Given the description of an element on the screen output the (x, y) to click on. 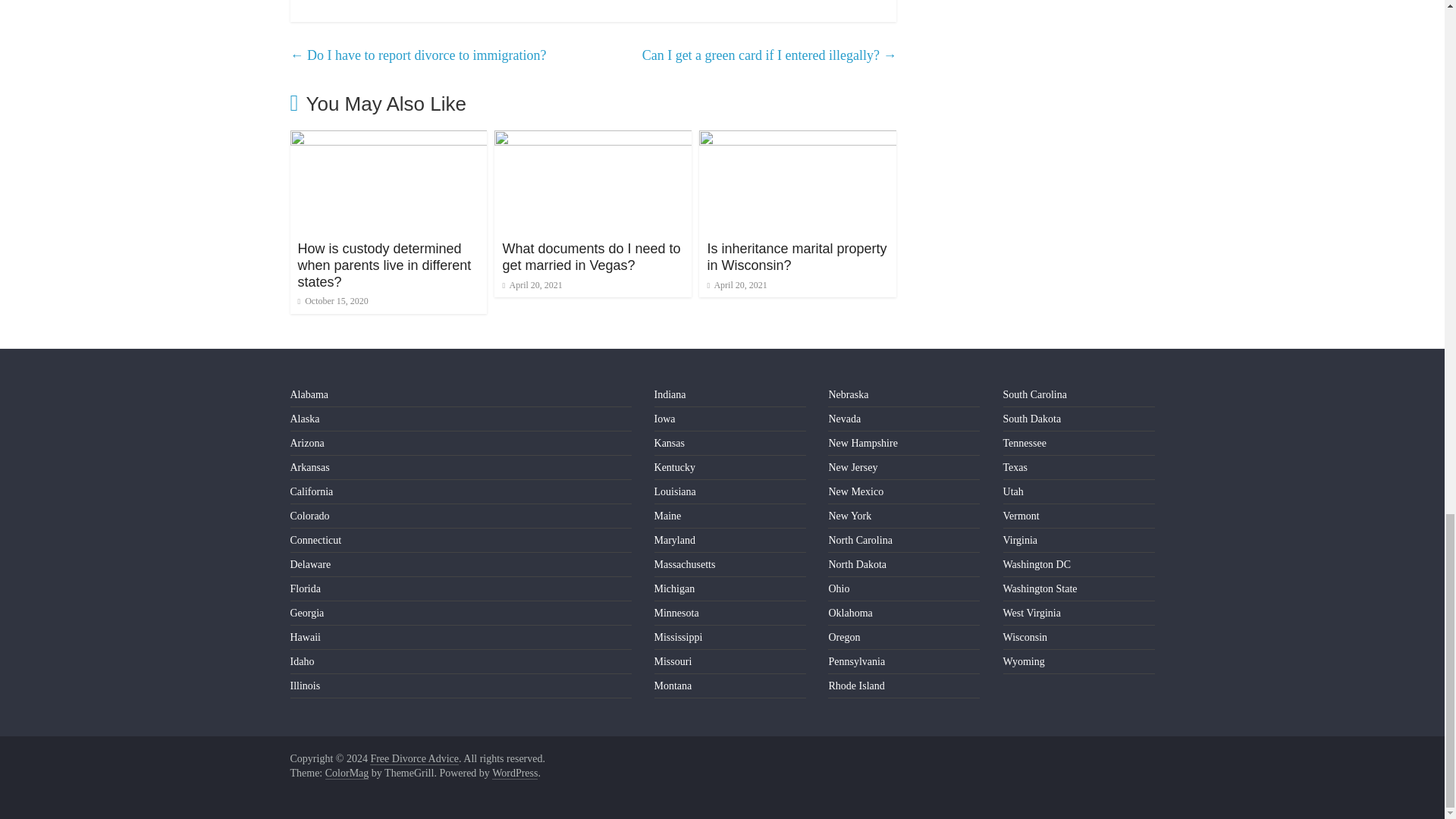
Is inheritance marital property in Wisconsin? (796, 256)
12:16 pm (332, 300)
What documents do I need to get married in Vegas? (590, 256)
April 20, 2021 (736, 285)
October 15, 2020 (332, 300)
April 20, 2021 (532, 285)
